Given the description of an element on the screen output the (x, y) to click on. 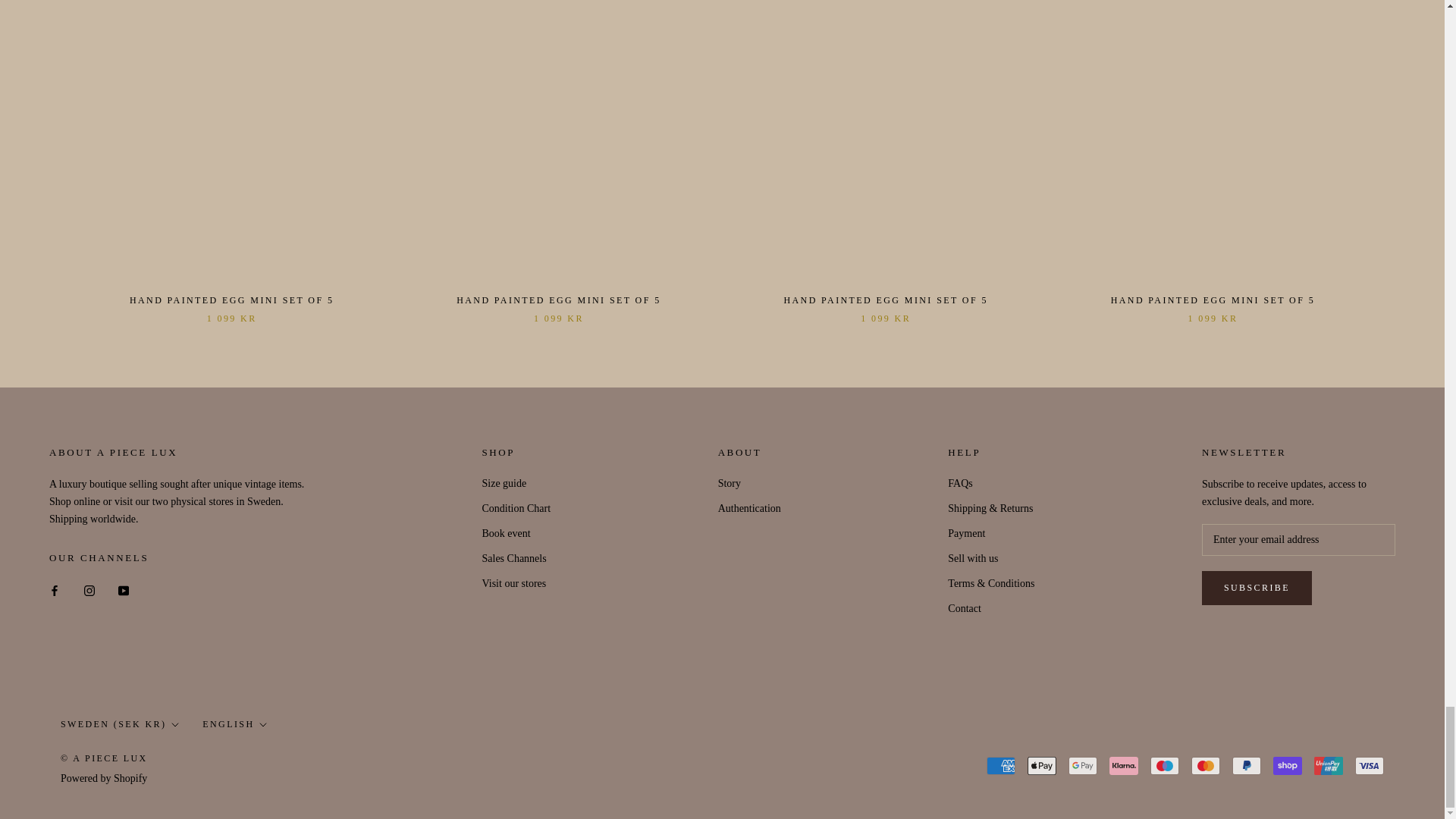
American Express (1000, 765)
Google Pay (1082, 765)
Apple Pay (1042, 765)
Klarna (1123, 765)
